Given the description of an element on the screen output the (x, y) to click on. 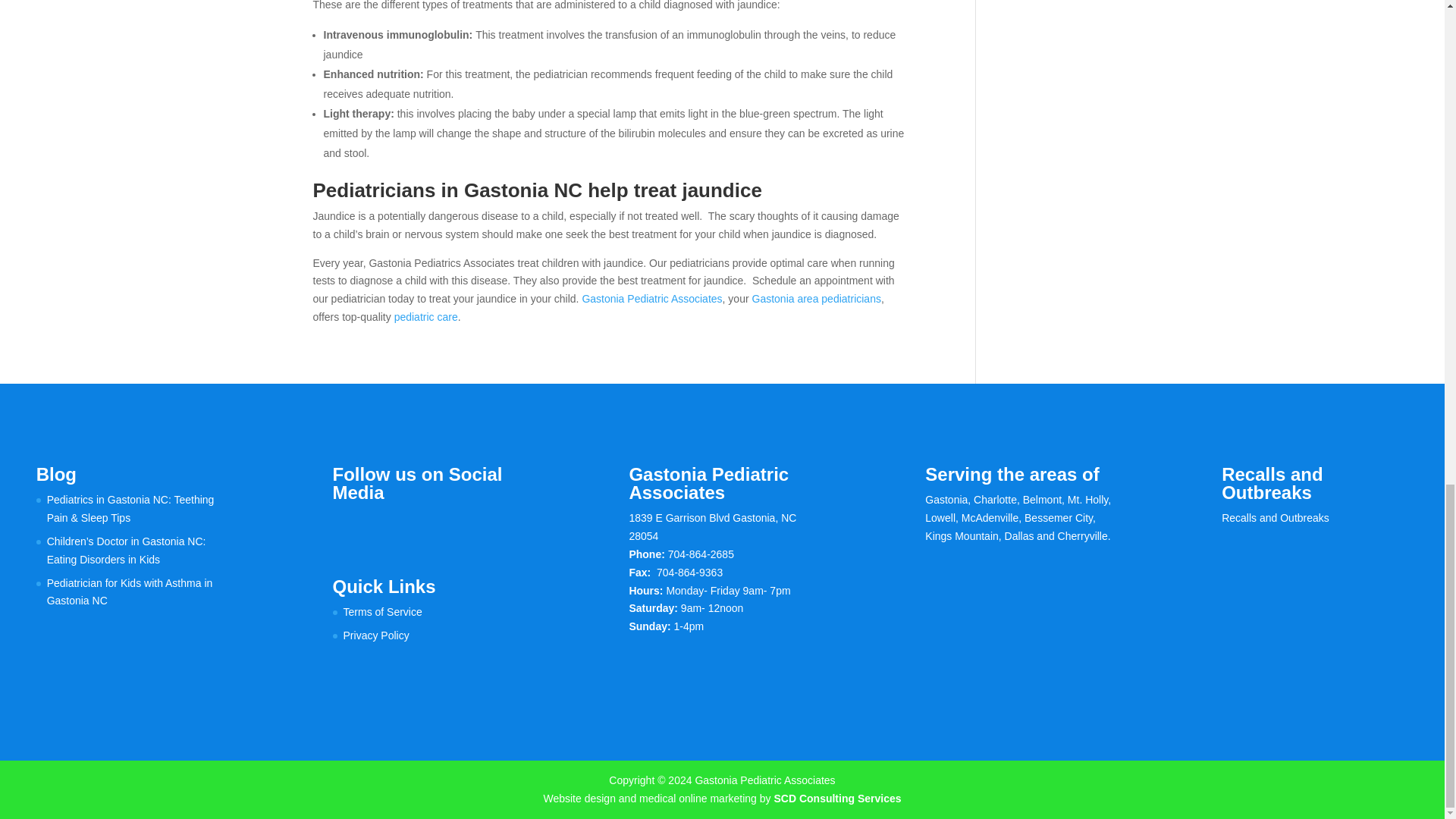
Terms of Service (382, 612)
Pediatrician for Kids with Asthma in Gastonia NC (129, 592)
Gastonia area pediatricians (816, 298)
Recalls and Outbreaks (1275, 517)
Follow Us on Facebook (344, 525)
pediatric care (426, 316)
Gastonia Pediatric Associates (651, 298)
Privacy Policy (376, 635)
SCD Consulting Services (837, 798)
Follow Us on Twitter (376, 525)
Follow Us on Instagram (408, 525)
